Given the description of an element on the screen output the (x, y) to click on. 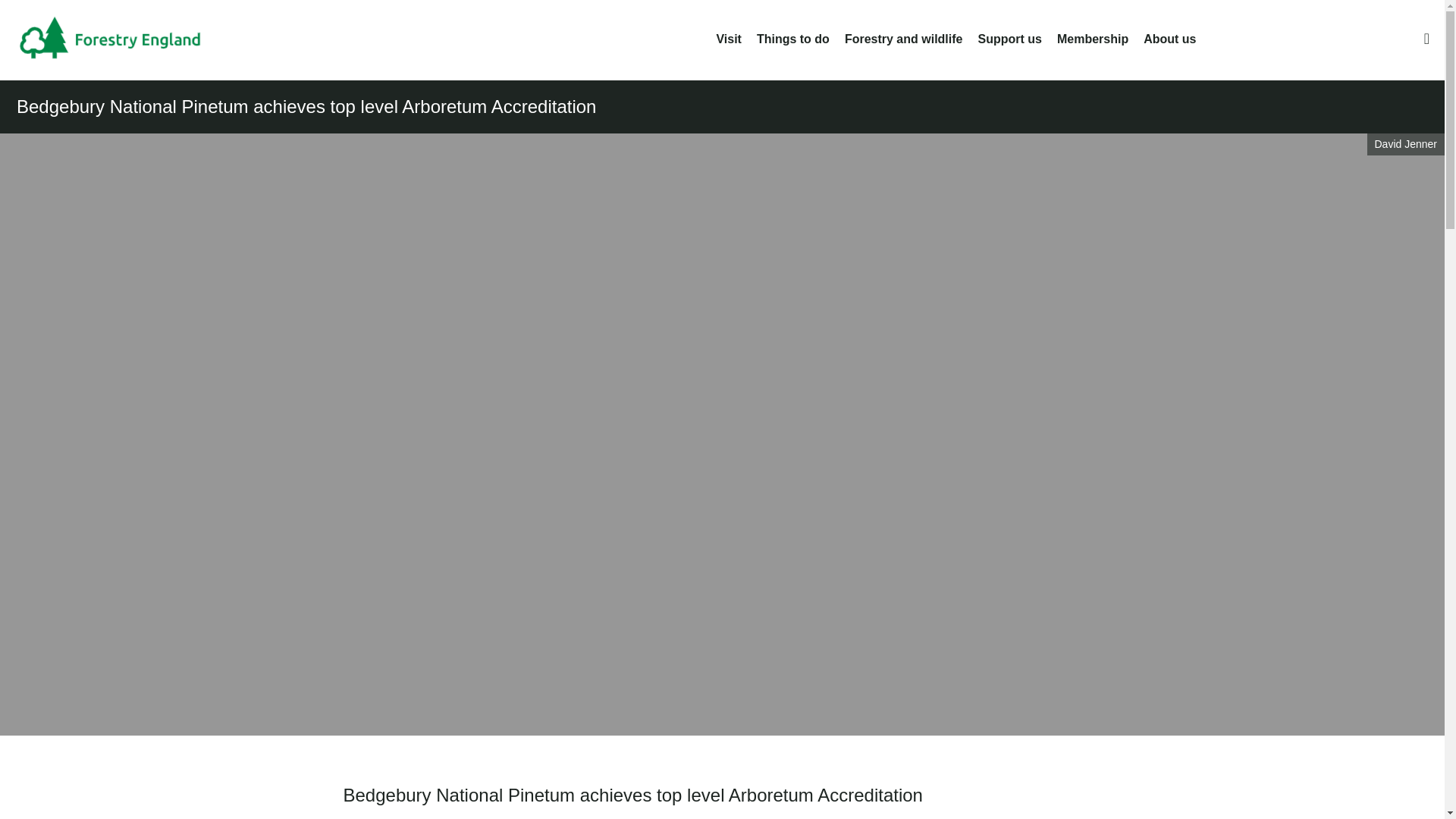
Visit (728, 38)
Forestry and wildlife (903, 38)
Home (120, 40)
Things to do (793, 38)
